Given the description of an element on the screen output the (x, y) to click on. 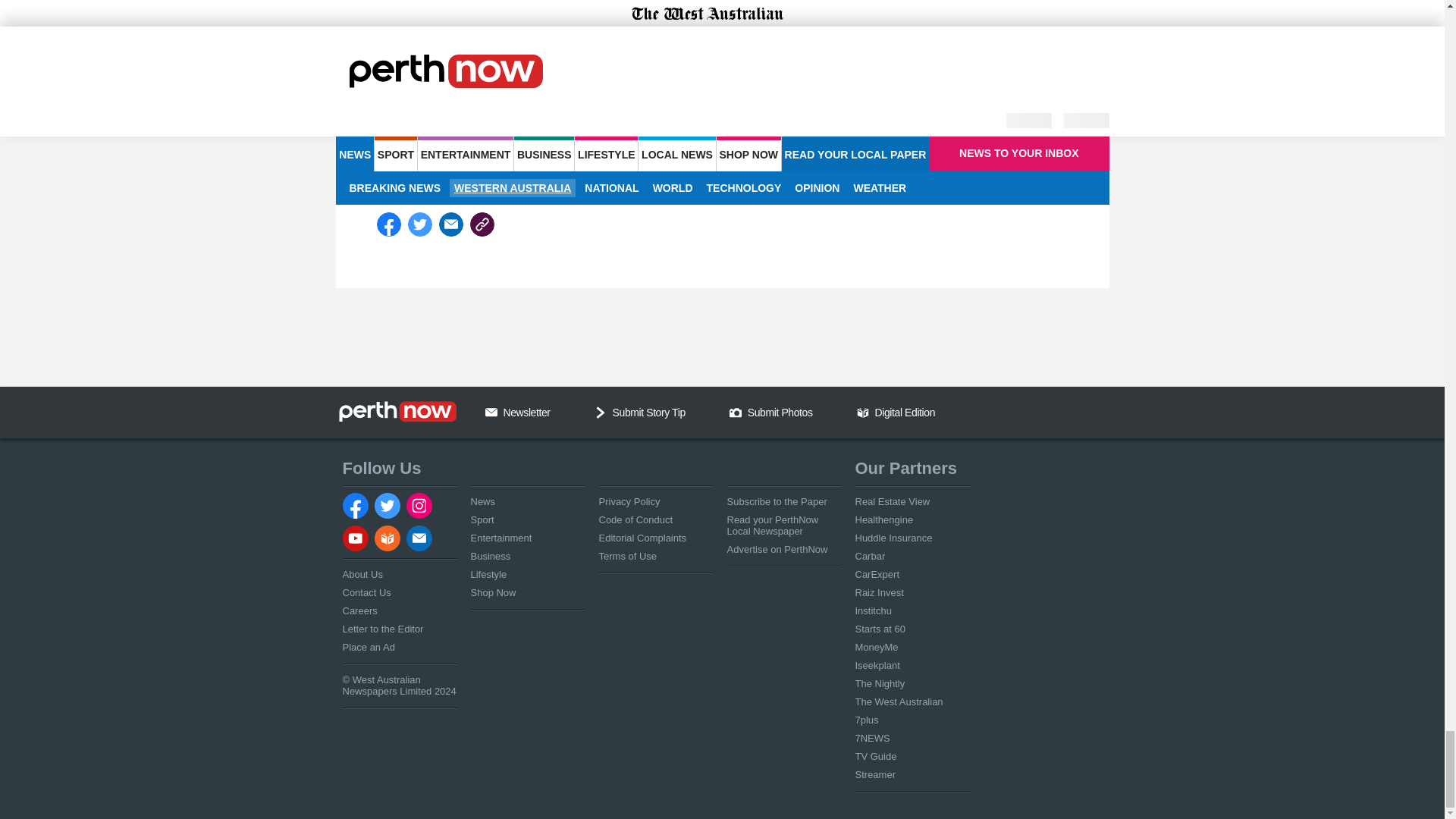
Camera Icon (735, 412)
Get Digital Edition (863, 412)
Email Us (490, 412)
Chevron Down Icon (600, 412)
